Given the description of an element on the screen output the (x, y) to click on. 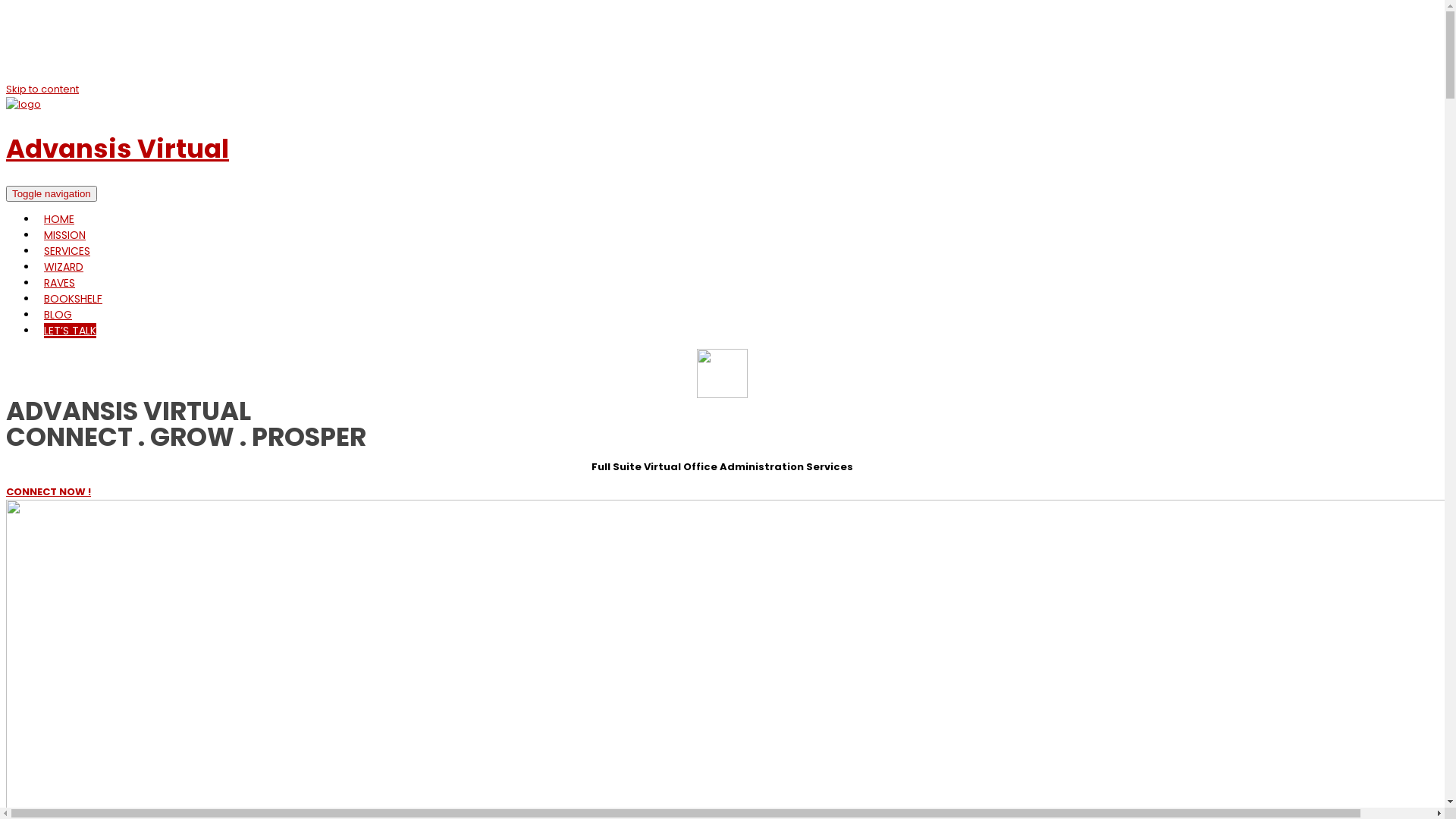
BOOKSHELF Element type: text (72, 298)
Advansis Virtual Element type: text (117, 148)
HOME Element type: text (58, 218)
Skip to content Element type: text (42, 88)
RAVES Element type: text (59, 282)
Toggle navigation Element type: text (51, 193)
BLOG Element type: text (57, 314)
WIZARD Element type: text (63, 266)
SERVICES Element type: text (66, 250)
CONNECT NOW ! Element type: text (48, 491)
MISSION Element type: text (64, 234)
